Given the description of an element on the screen output the (x, y) to click on. 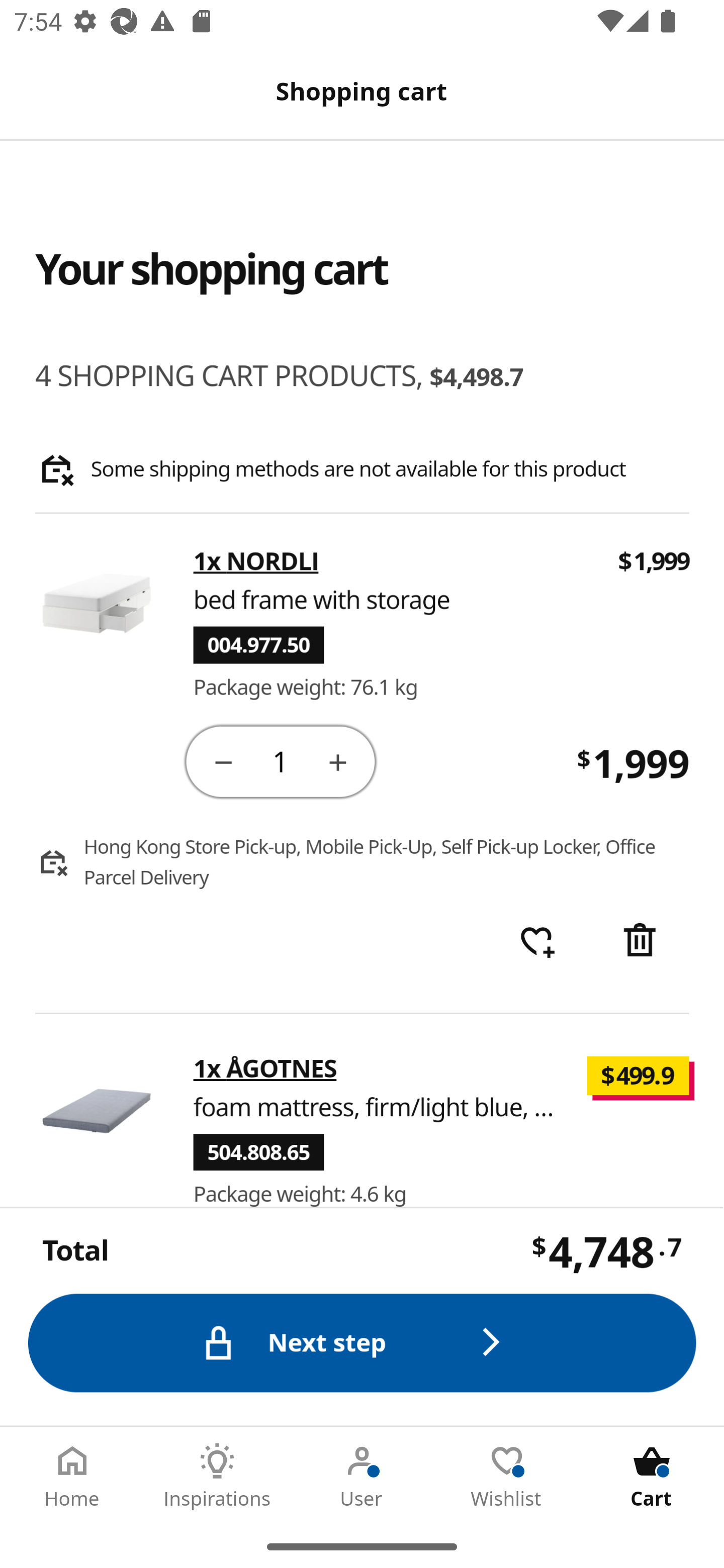
1x  NORDLI 1x  NORDLI (256, 561)
1 (281, 760)
 (223, 761)
 (338, 761)
  (536, 942)
 (641, 942)
1x  ÅGOTNES 1x  ÅGOTNES (265, 1068)
Home
Tab 1 of 5 (72, 1476)
Inspirations
Tab 2 of 5 (216, 1476)
User
Tab 3 of 5 (361, 1476)
Wishlist
Tab 4 of 5 (506, 1476)
Cart
Tab 5 of 5 (651, 1476)
